Given the description of an element on the screen output the (x, y) to click on. 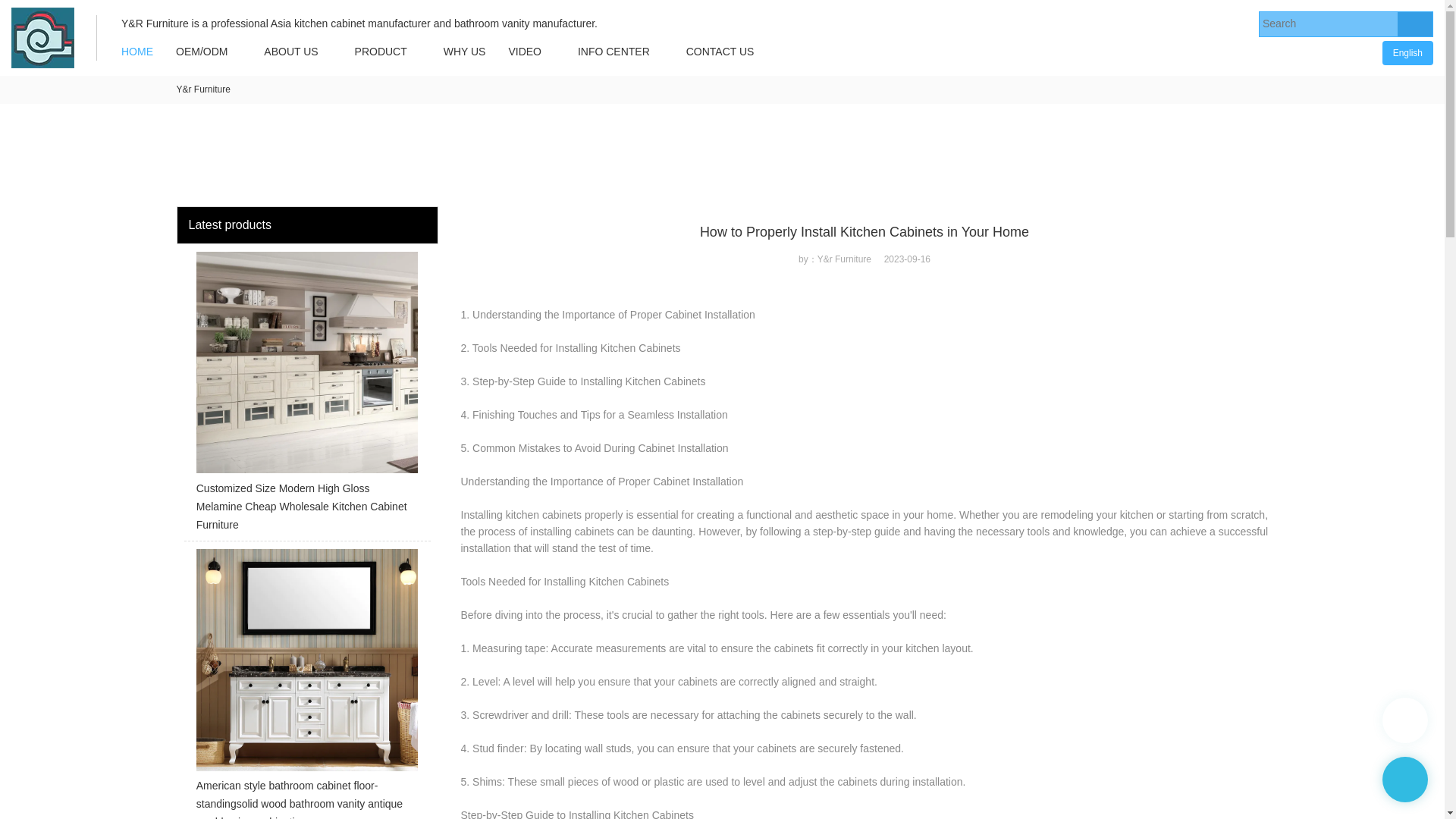
HOME (137, 51)
CONTACT US (720, 51)
WHY US (464, 51)
VIDEO (524, 51)
PRODUCT (381, 51)
ABOUT US (290, 51)
INFO CENTER (613, 51)
